Given the description of an element on the screen output the (x, y) to click on. 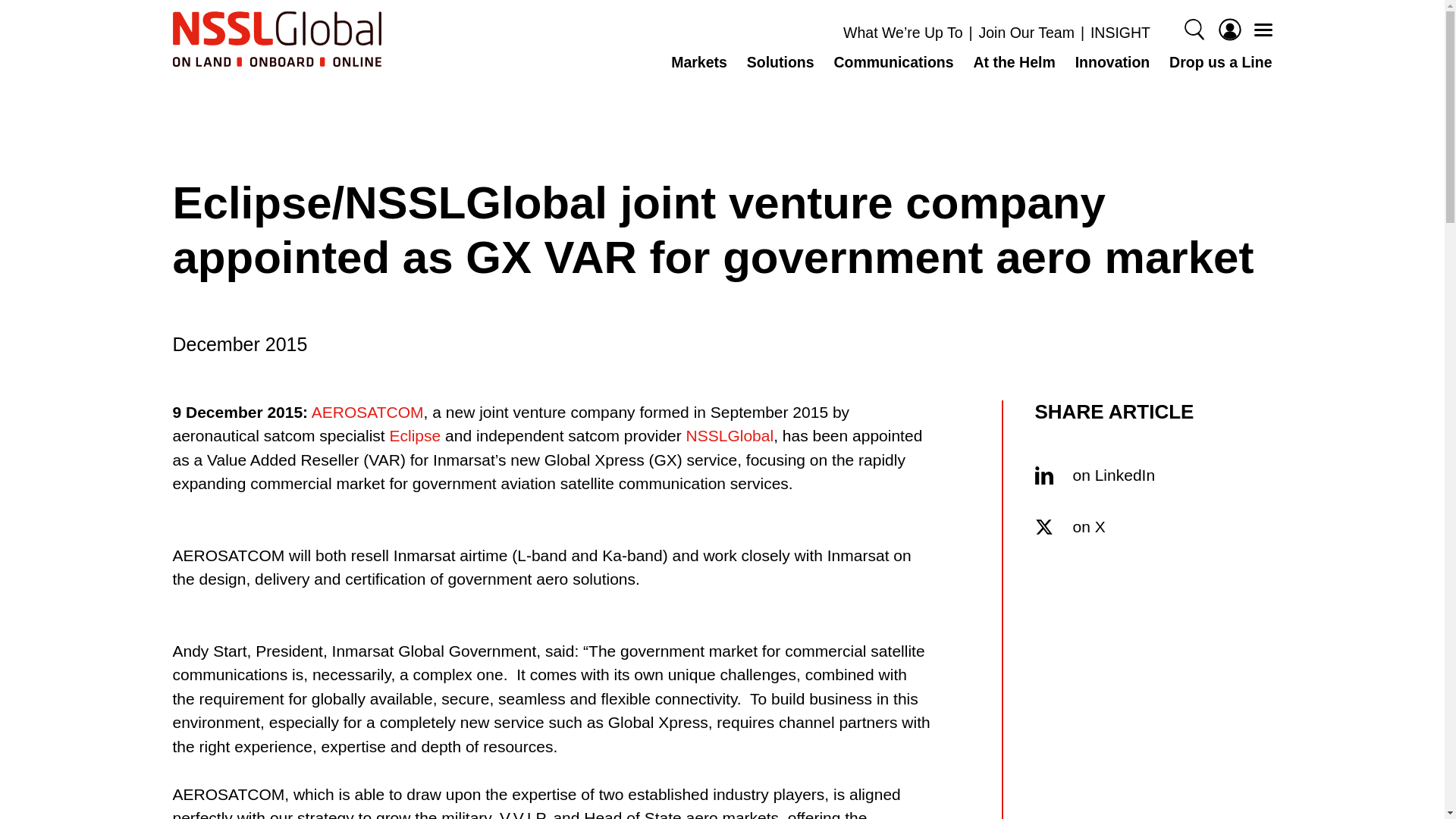
INSIGHT (1119, 32)
Innovation (1112, 62)
Markets (699, 62)
Markets (699, 62)
At the helm (1013, 62)
Join Our Team (1025, 32)
Solutions (780, 62)
Communications (892, 62)
Drop us a line (1216, 62)
